Given the description of an element on the screen output the (x, y) to click on. 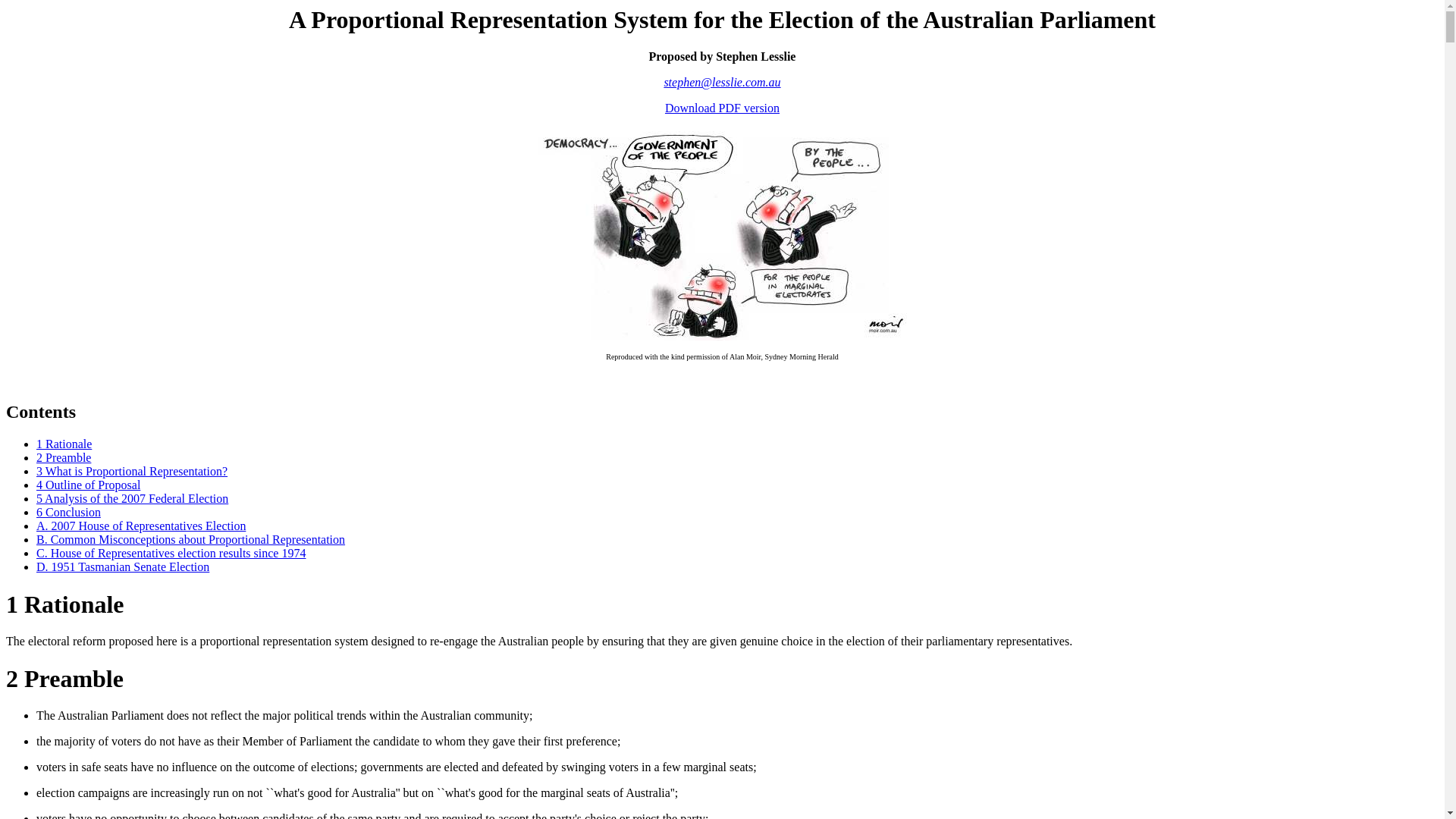
2 Preamble Element type: text (64, 678)
3 What is Proportional Representation? Element type: text (131, 470)
6 Conclusion Element type: text (68, 511)
stephen@lesslie.com.au Element type: text (721, 81)
5 Analysis of the 2007 Federal Election Element type: text (132, 498)
4 Outline of Proposal Element type: text (88, 484)
C. House of Representatives election results since 1974 Element type: text (170, 552)
Download PDF version Element type: text (722, 107)
1 Rationale Element type: text (65, 604)
2 Preamble Element type: text (63, 457)
Contents Element type: text (40, 411)
B. Common Misconceptions about Proportional Representation Element type: text (190, 539)
1 Rationale Element type: text (63, 443)
D. 1951 Tasmanian Senate Election Element type: text (122, 566)
A. 2007 House of Representatives Election Element type: text (140, 525)
